Given the description of an element on the screen output the (x, y) to click on. 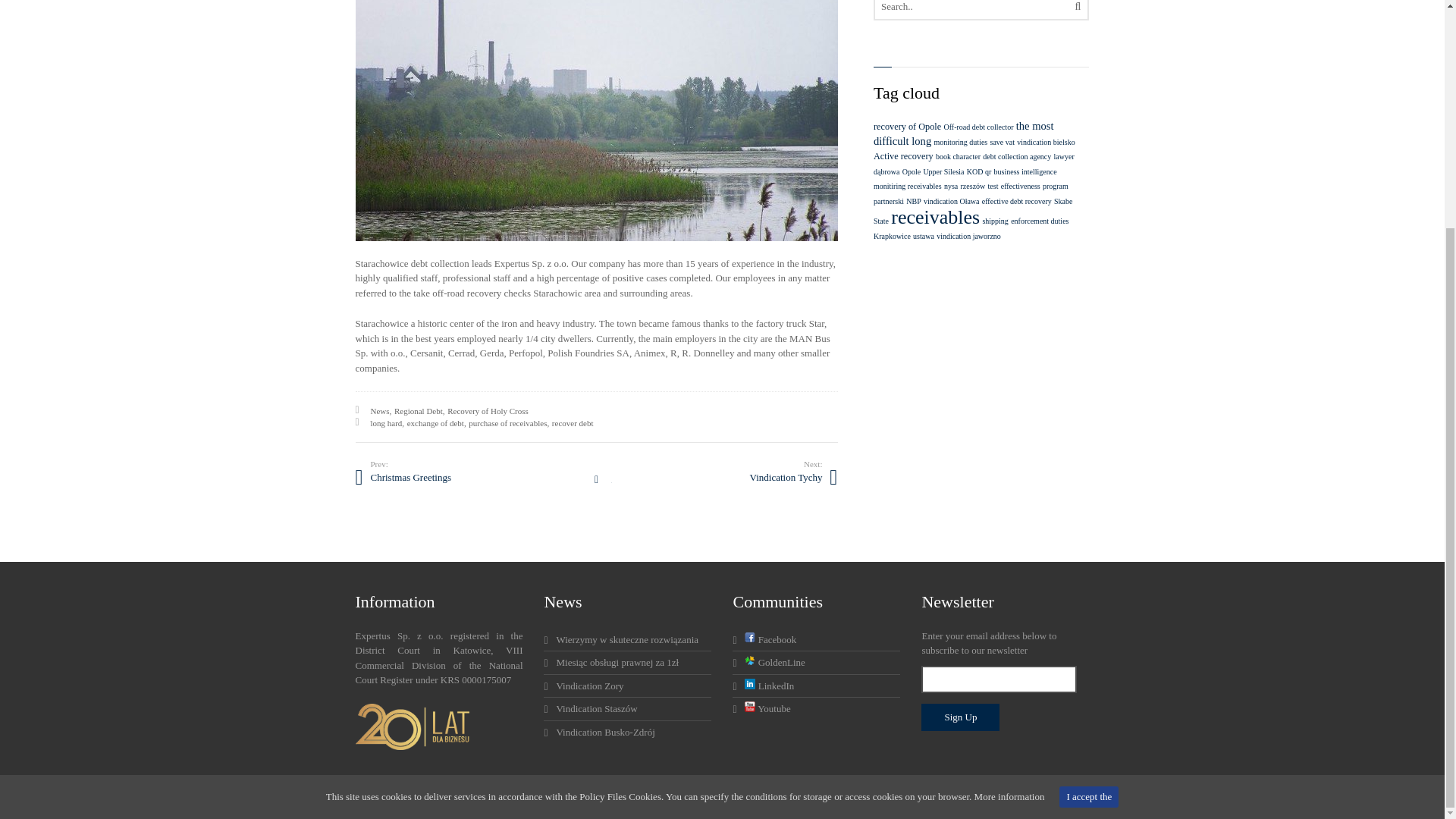
1 topic (1045, 142)
3 topics (963, 133)
1 topic (907, 185)
1 topic (973, 164)
1 topic (1002, 142)
Search.. (981, 10)
1 topic (960, 142)
See all entries (595, 479)
1 topic (978, 171)
1 topic (978, 126)
